Given the description of an element on the screen output the (x, y) to click on. 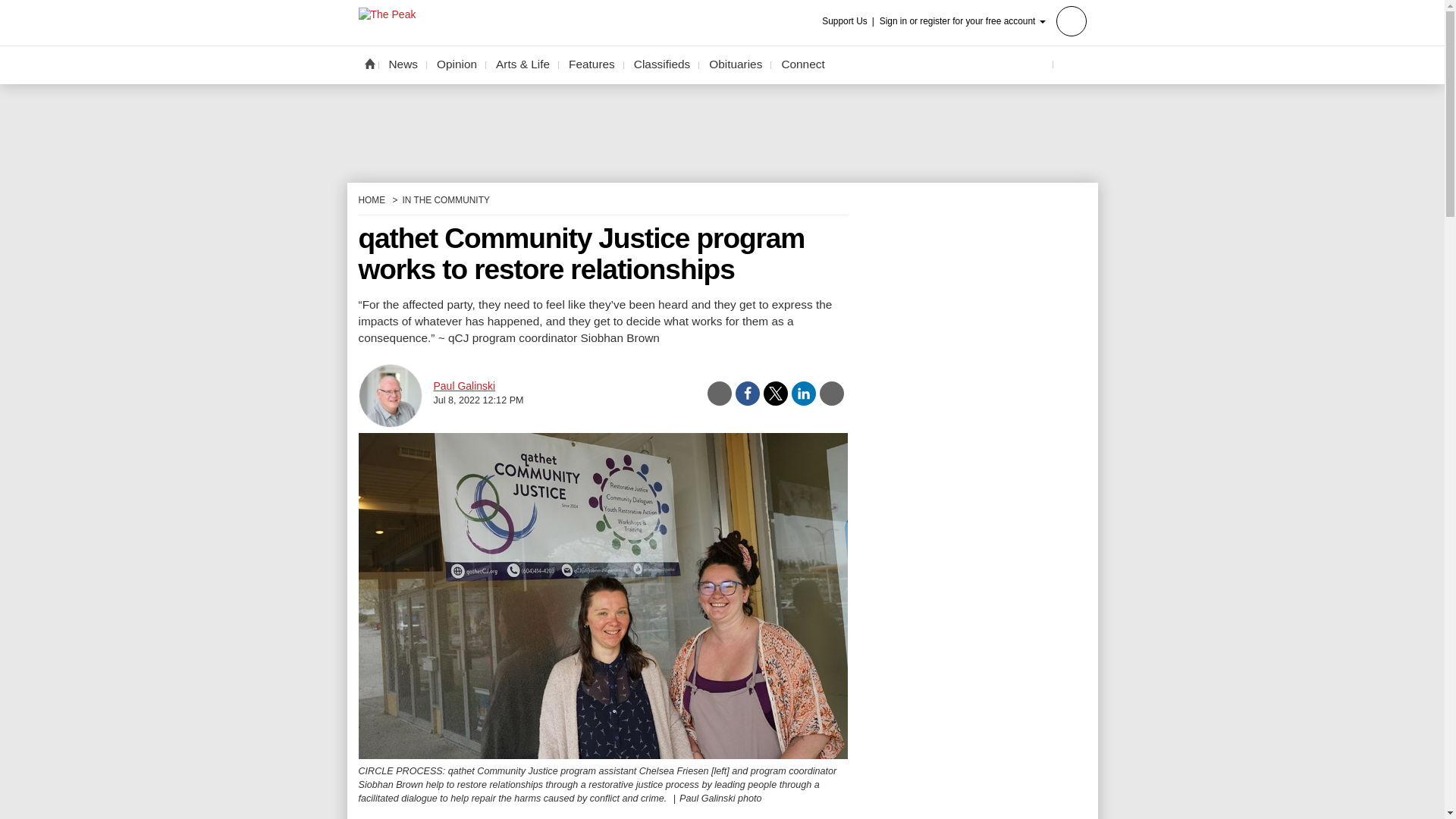
Opinion (456, 64)
Support Us (849, 21)
Home (368, 63)
Sign in or register for your free account (982, 20)
News (403, 64)
